Given the description of an element on the screen output the (x, y) to click on. 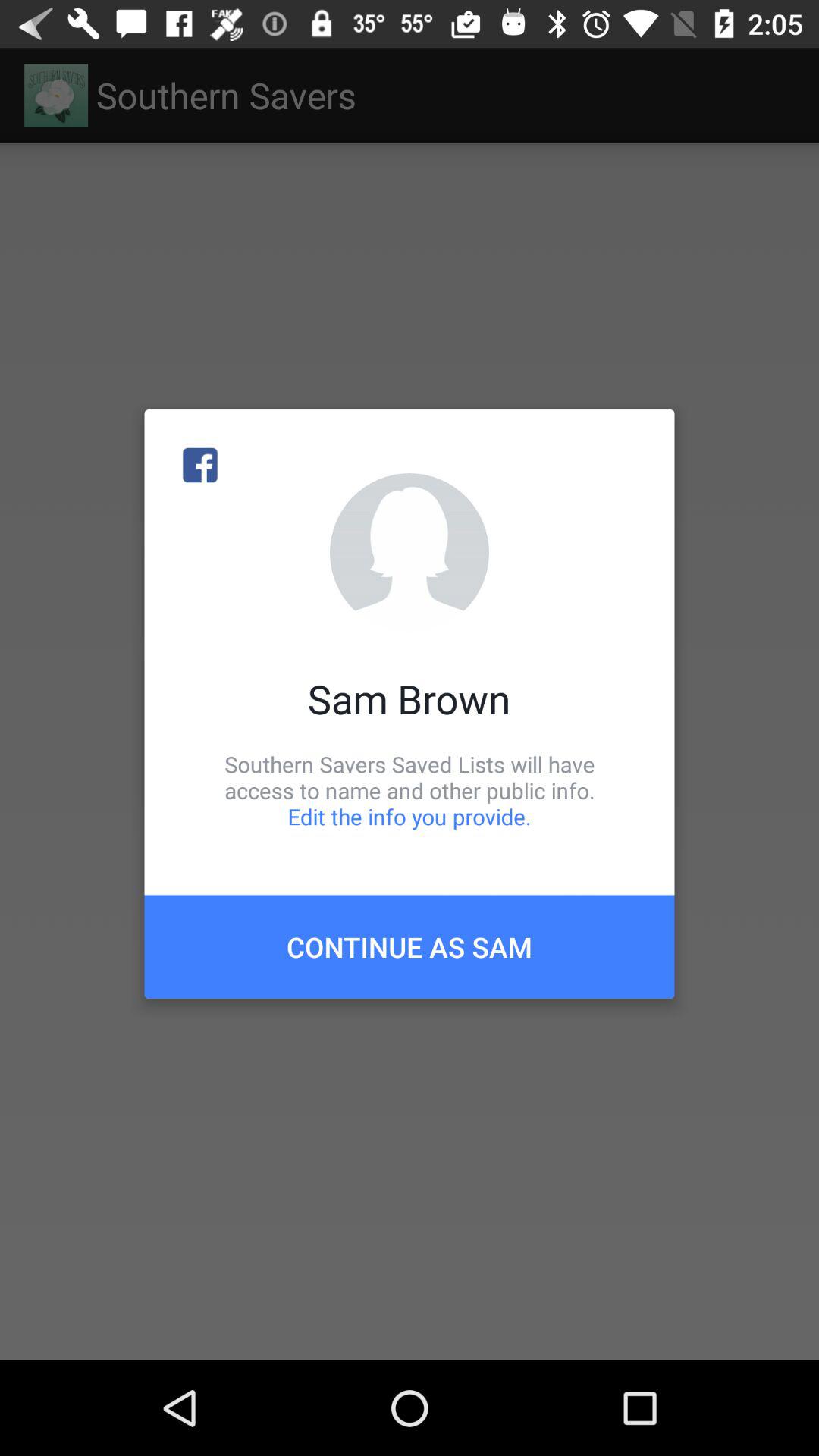
launch southern savers saved icon (409, 790)
